Given the description of an element on the screen output the (x, y) to click on. 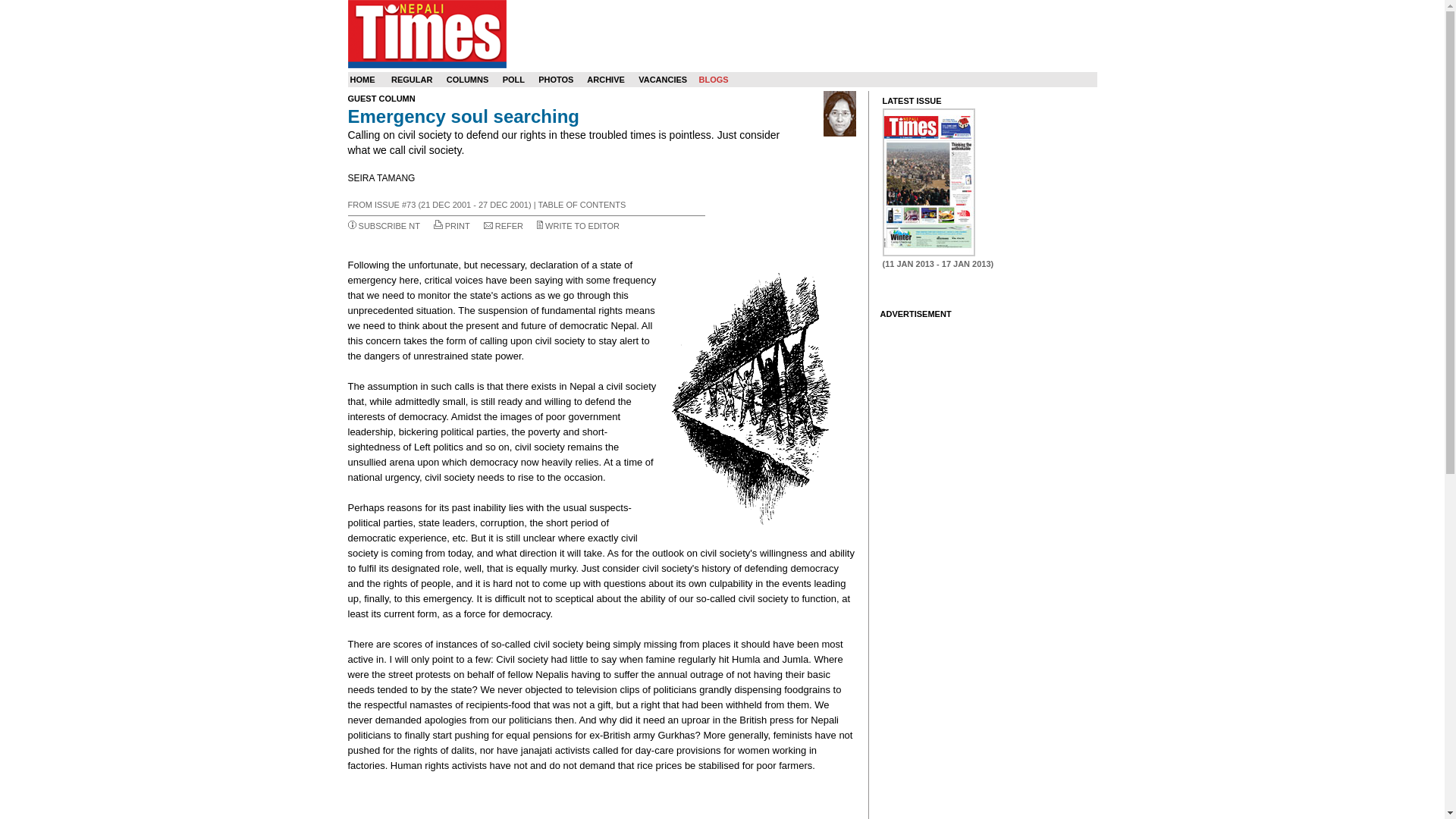
ARCHIVE (605, 79)
BLOGS (713, 79)
SUBSCRIBE NT (389, 225)
COLUMNS (467, 79)
Nepali Times (426, 33)
VACANCIES (663, 79)
REGULAR (411, 79)
Advertisement (601, 796)
WRITE TO EDITOR (582, 225)
TABLE OF CONTENTS (581, 204)
POLL (513, 79)
HOME (362, 79)
PRINT (458, 225)
PHOTOS (555, 79)
REFER (508, 225)
